Given the description of an element on the screen output the (x, y) to click on. 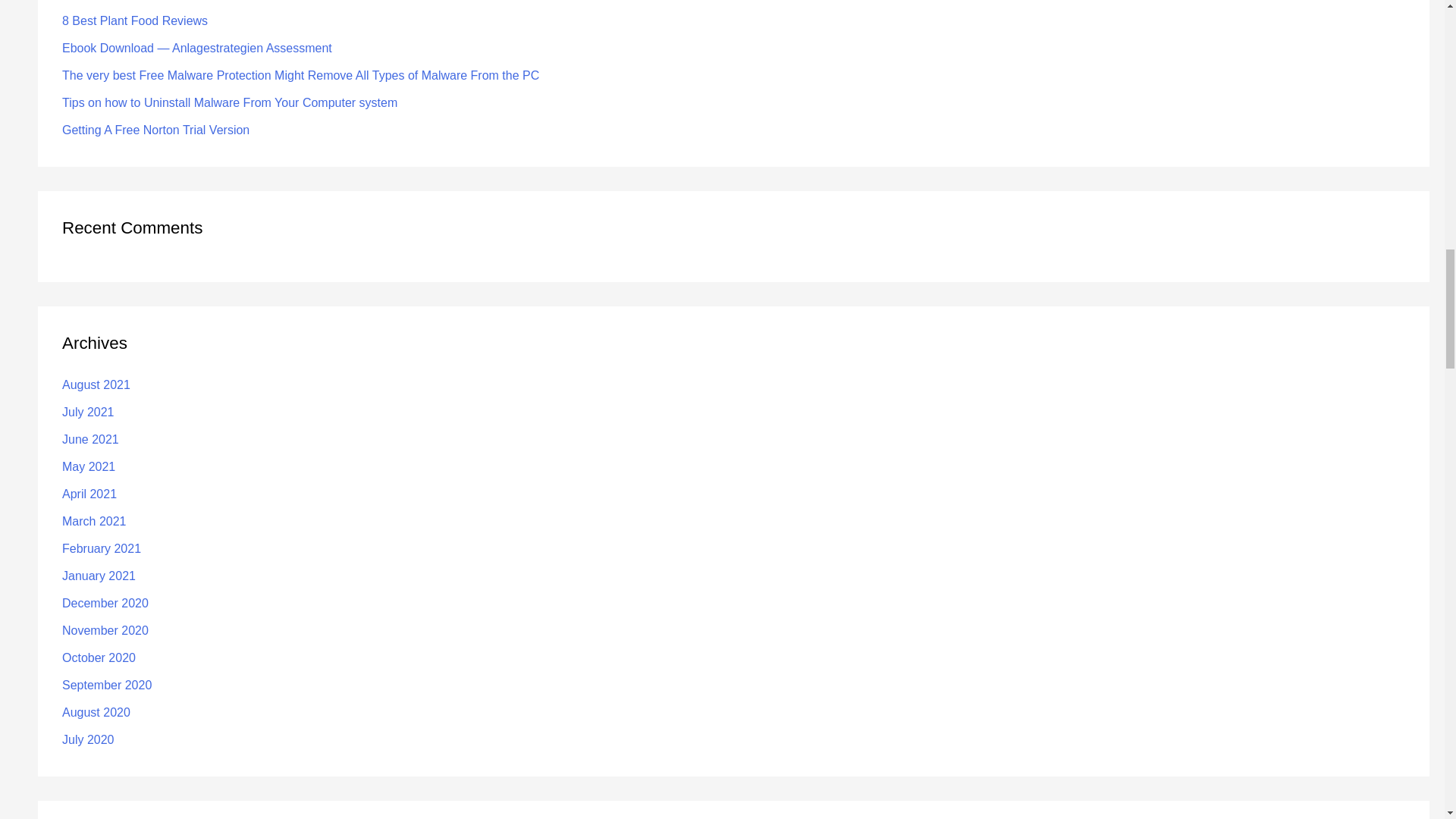
8 Best Plant Food Reviews (135, 20)
Tips on how to Uninstall Malware From Your Computer system (229, 102)
July 2020 (88, 739)
November 2020 (105, 630)
July 2021 (88, 411)
May 2021 (88, 466)
September 2020 (106, 684)
February 2021 (101, 548)
January 2021 (98, 575)
October 2020 (98, 657)
April 2021 (89, 493)
August 2020 (96, 712)
June 2021 (90, 439)
August 2021 (96, 384)
